Given the description of an element on the screen output the (x, y) to click on. 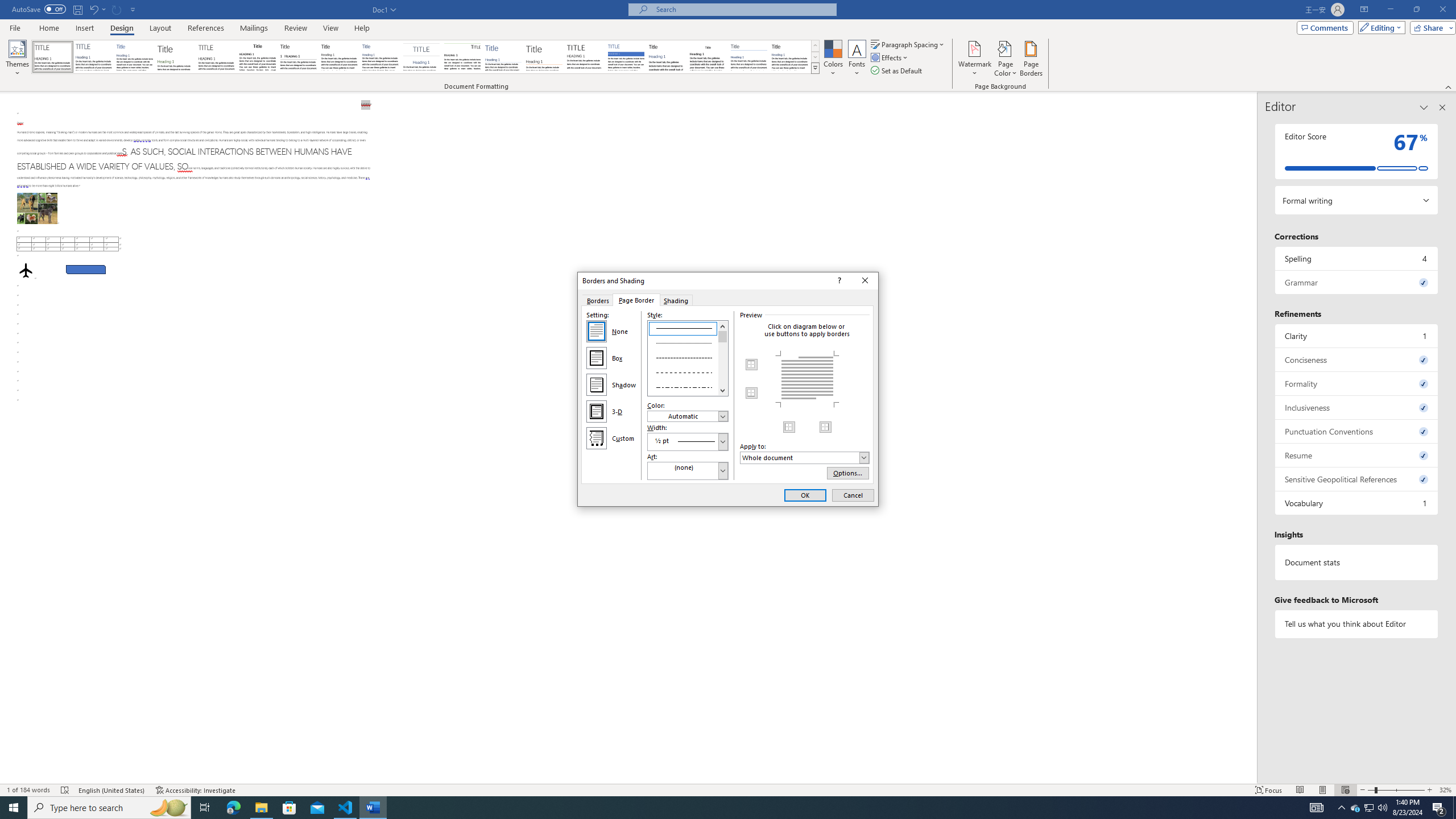
Black & White (Word 2013) (338, 56)
Show desktop (1454, 807)
Themes (17, 58)
Microsoft Store (289, 807)
Border Color (Automatic) (687, 415)
Dash dot (1368, 807)
Word 2003 (687, 386)
Centered (707, 56)
Document (421, 56)
